Given the description of an element on the screen output the (x, y) to click on. 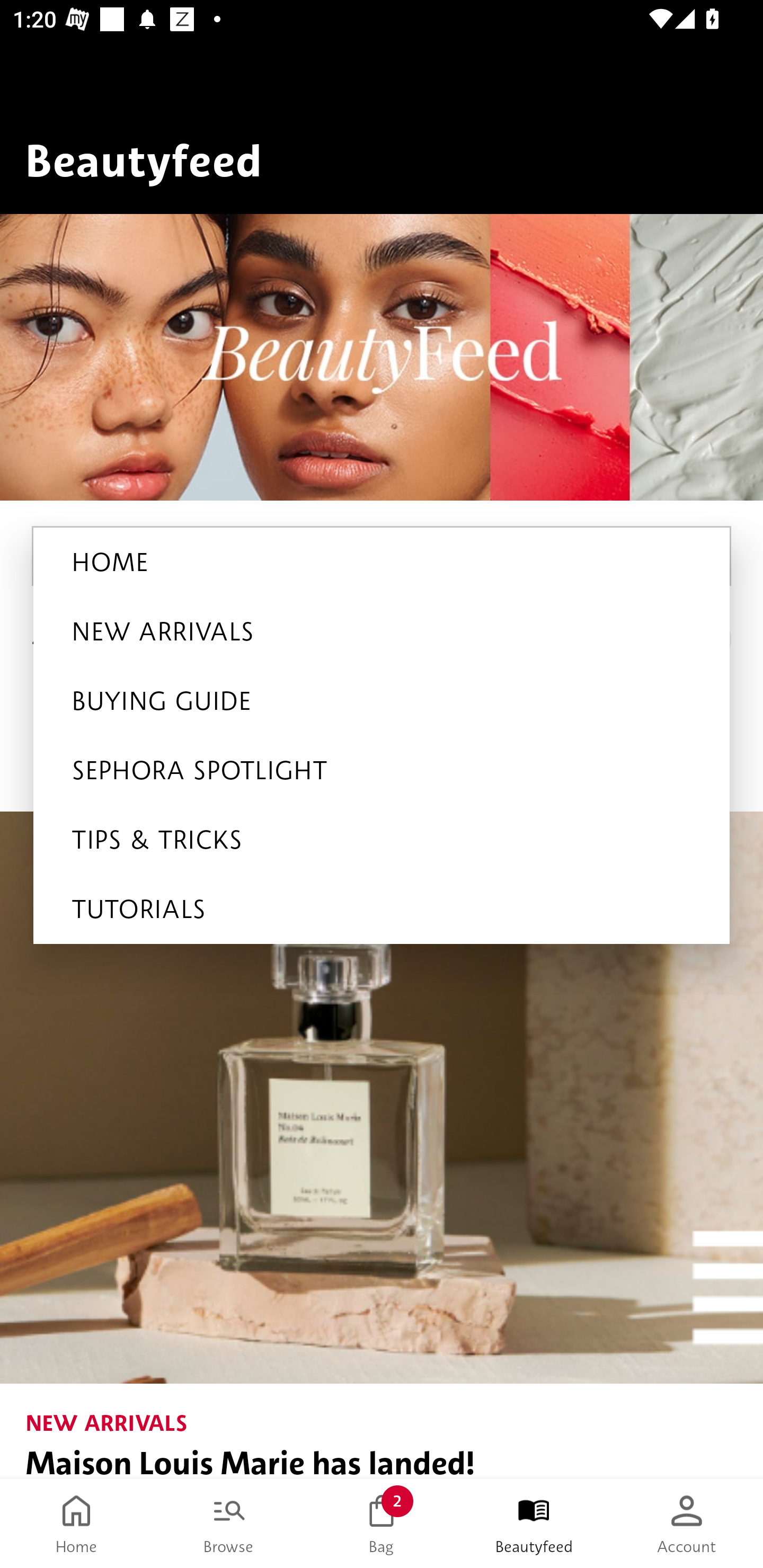
HOME (381, 561)
NEW ARRIVALS (381, 631)
BUYING GUIDE (381, 700)
SEPHORA SPOTLIGHT (381, 770)
TIPS & TRICKS (381, 839)
TUTORIALS (381, 908)
